Given the description of an element on the screen output the (x, y) to click on. 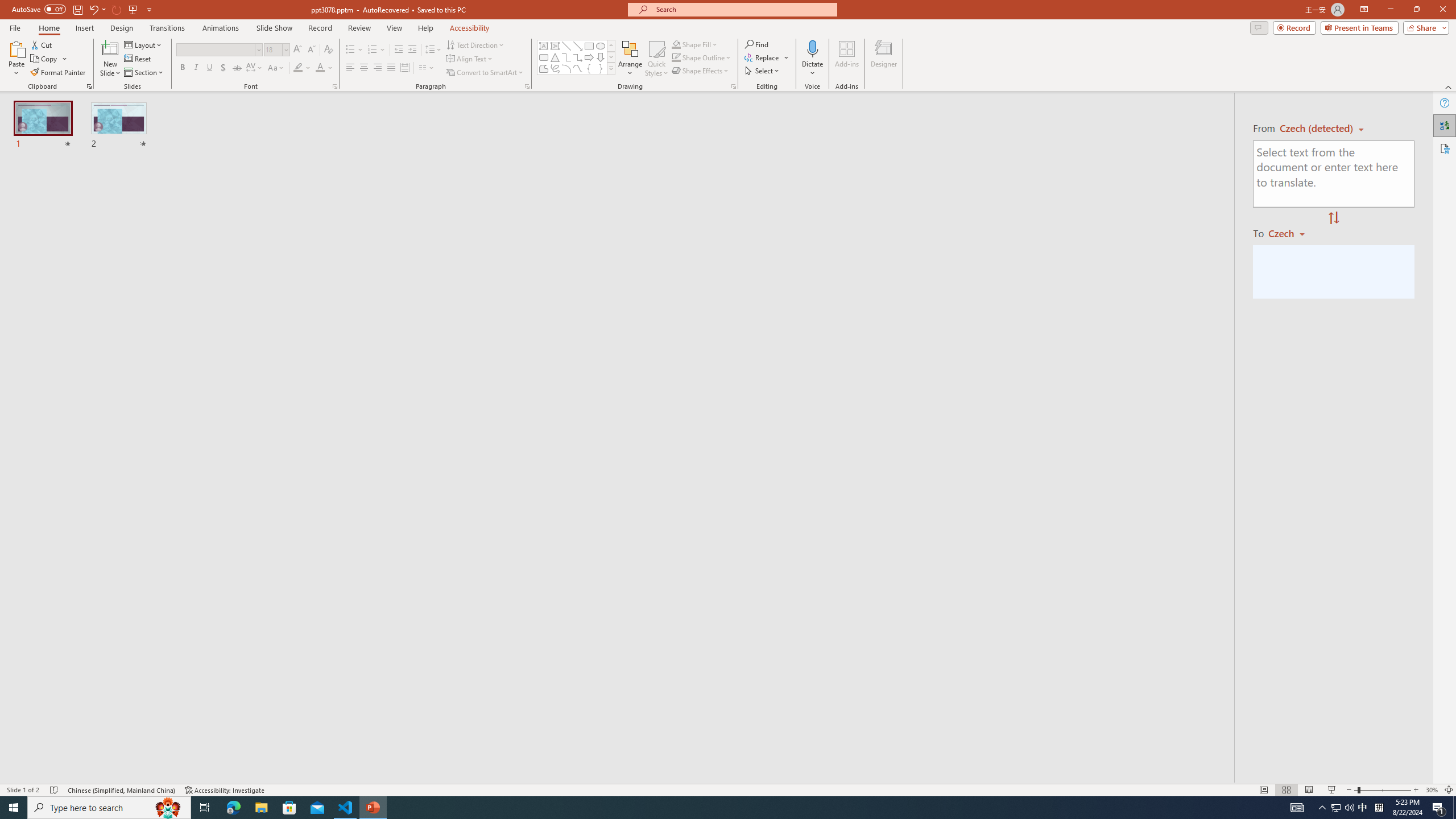
Czech (detected) (1317, 128)
